Given the description of an element on the screen output the (x, y) to click on. 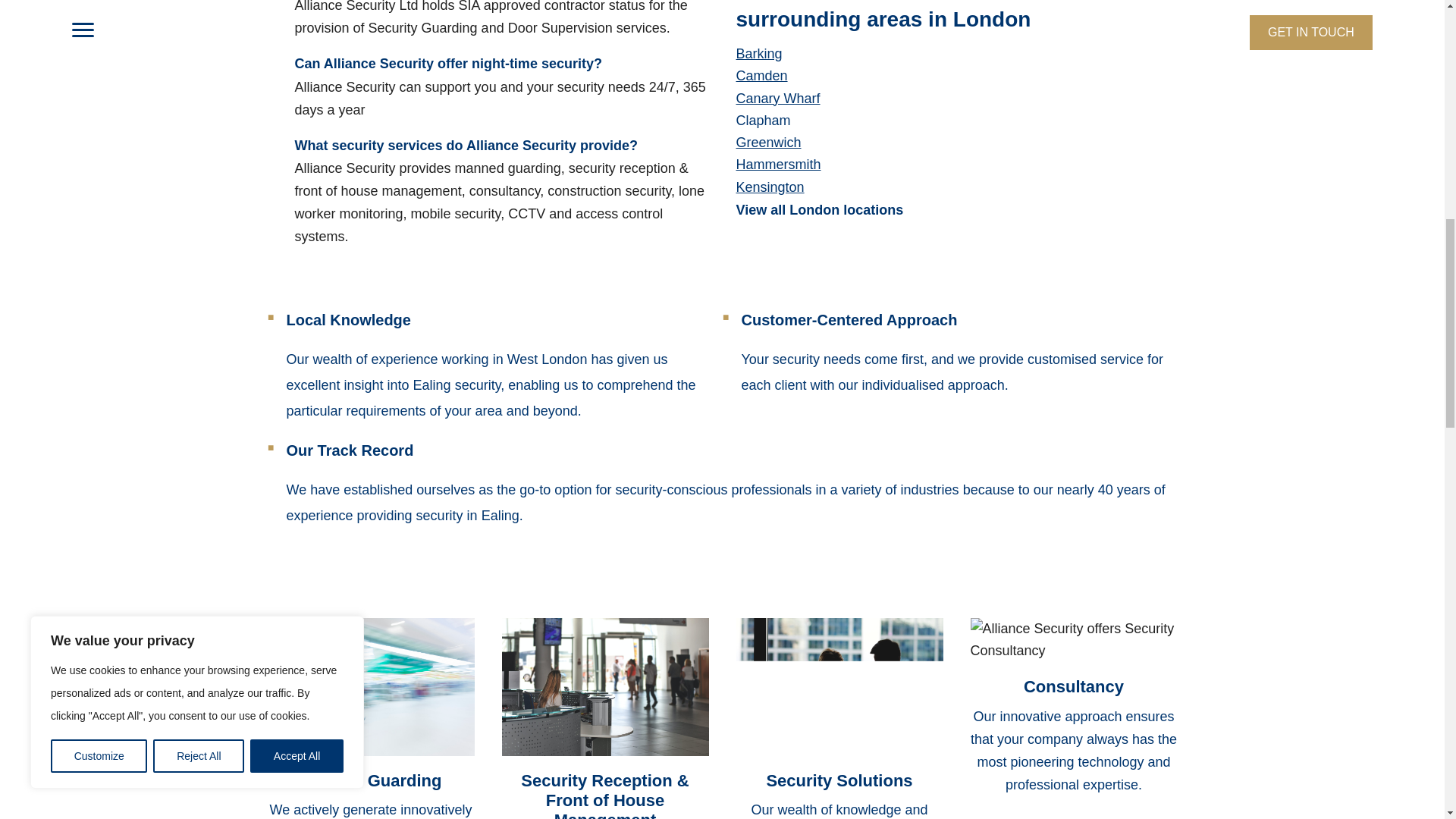
Barking (758, 53)
Consultancy (1073, 686)
Hammersmith (778, 164)
Security Solutions (838, 780)
Greenwich (767, 142)
View all London locations (818, 209)
Manned Guarding (370, 780)
Camden (761, 75)
Kensington (769, 186)
Clapham (762, 120)
